Given the description of an element on the screen output the (x, y) to click on. 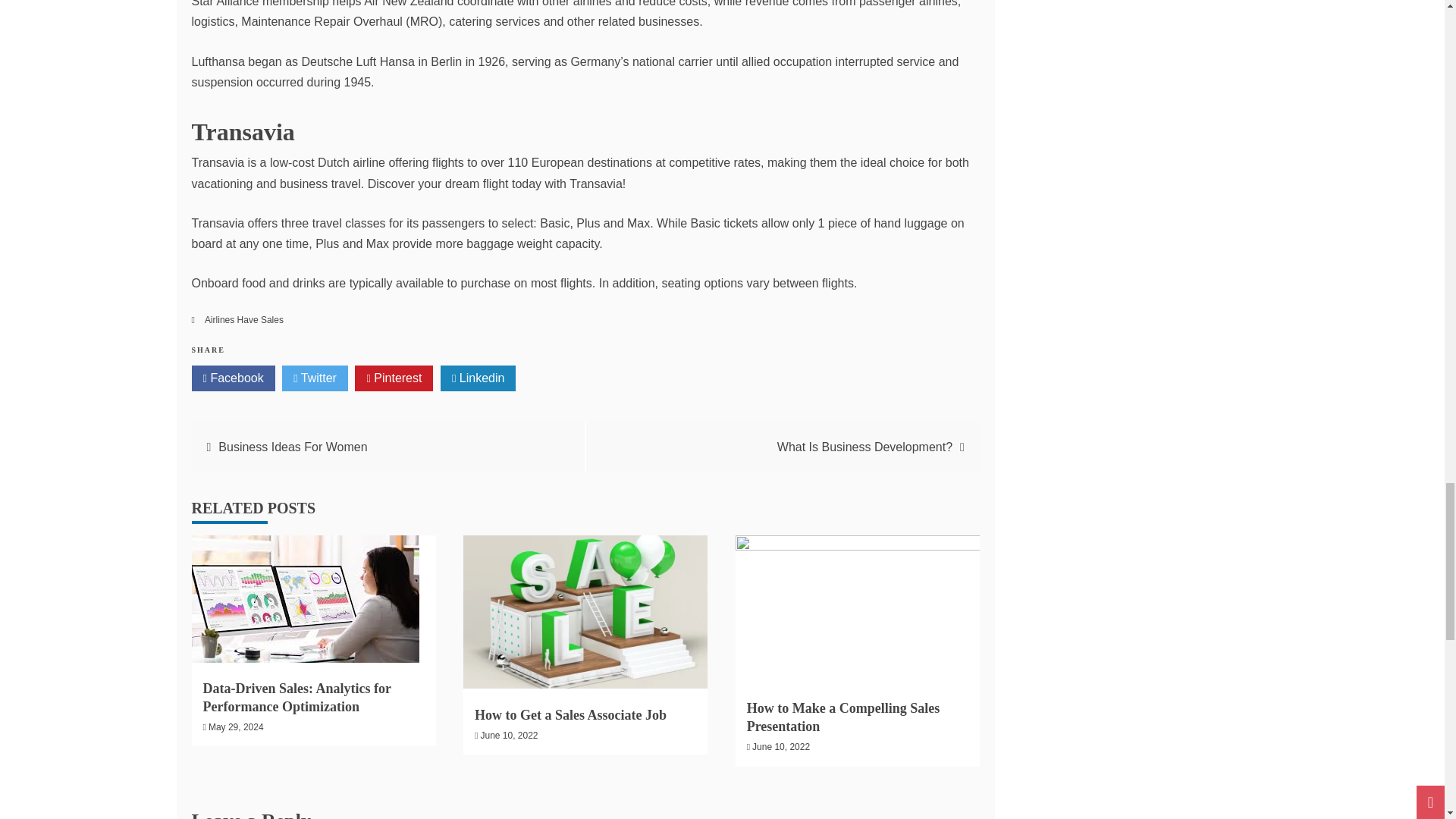
Pinterest (393, 378)
May 29, 2024 (235, 726)
June 10, 2022 (508, 735)
Facebook (232, 378)
Linkedin (478, 378)
Data-Driven Sales: Analytics for Performance Optimization (297, 696)
How to Get a Sales Associate Job (570, 714)
Business Ideas For Women (292, 446)
Airlines Have Sales (244, 319)
Twitter (314, 378)
